Given the description of an element on the screen output the (x, y) to click on. 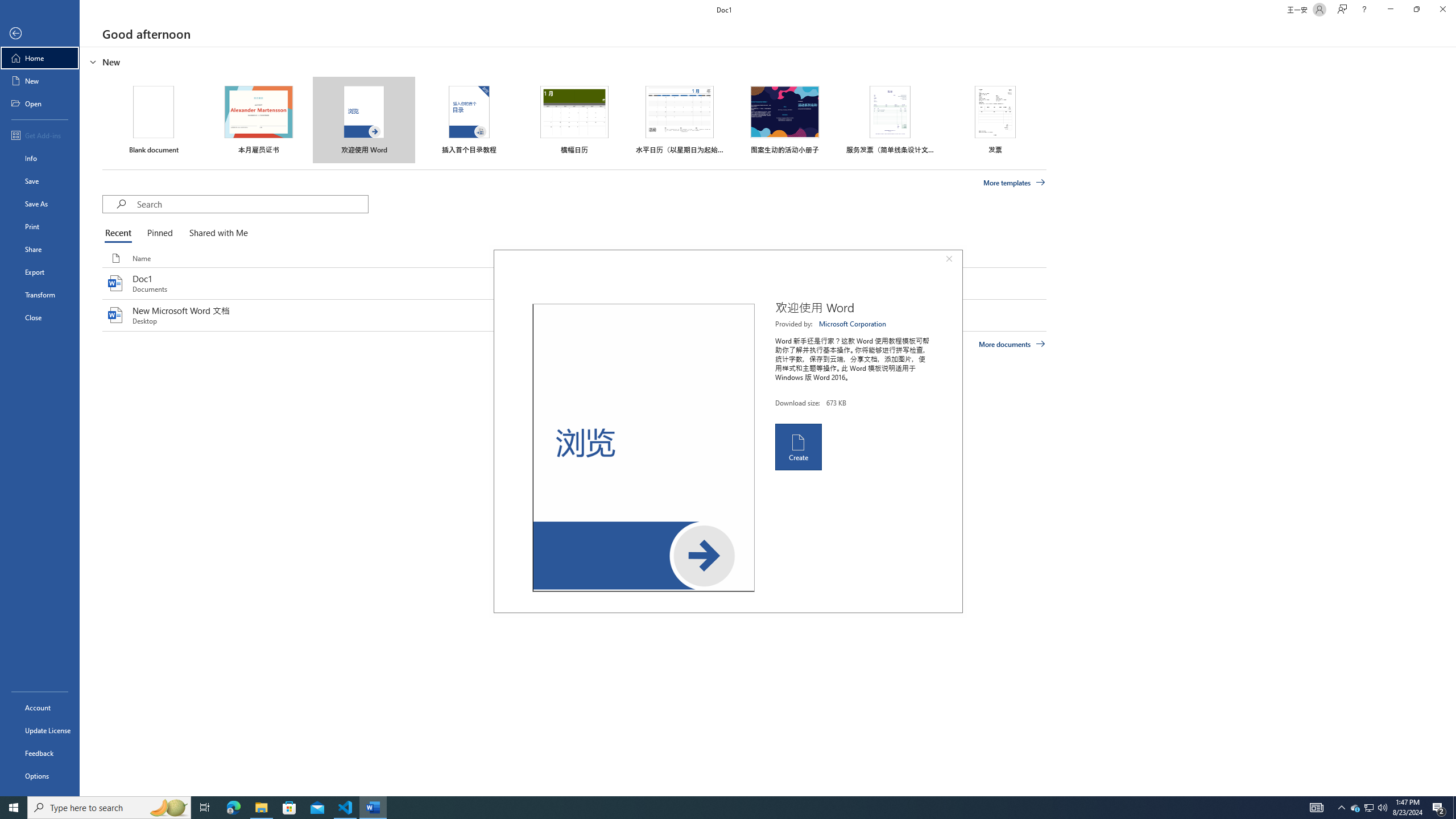
Feedback (40, 753)
Account (40, 707)
Info (40, 157)
Hide or show region (92, 61)
Update License (40, 730)
Options (40, 775)
